Given the description of an element on the screen output the (x, y) to click on. 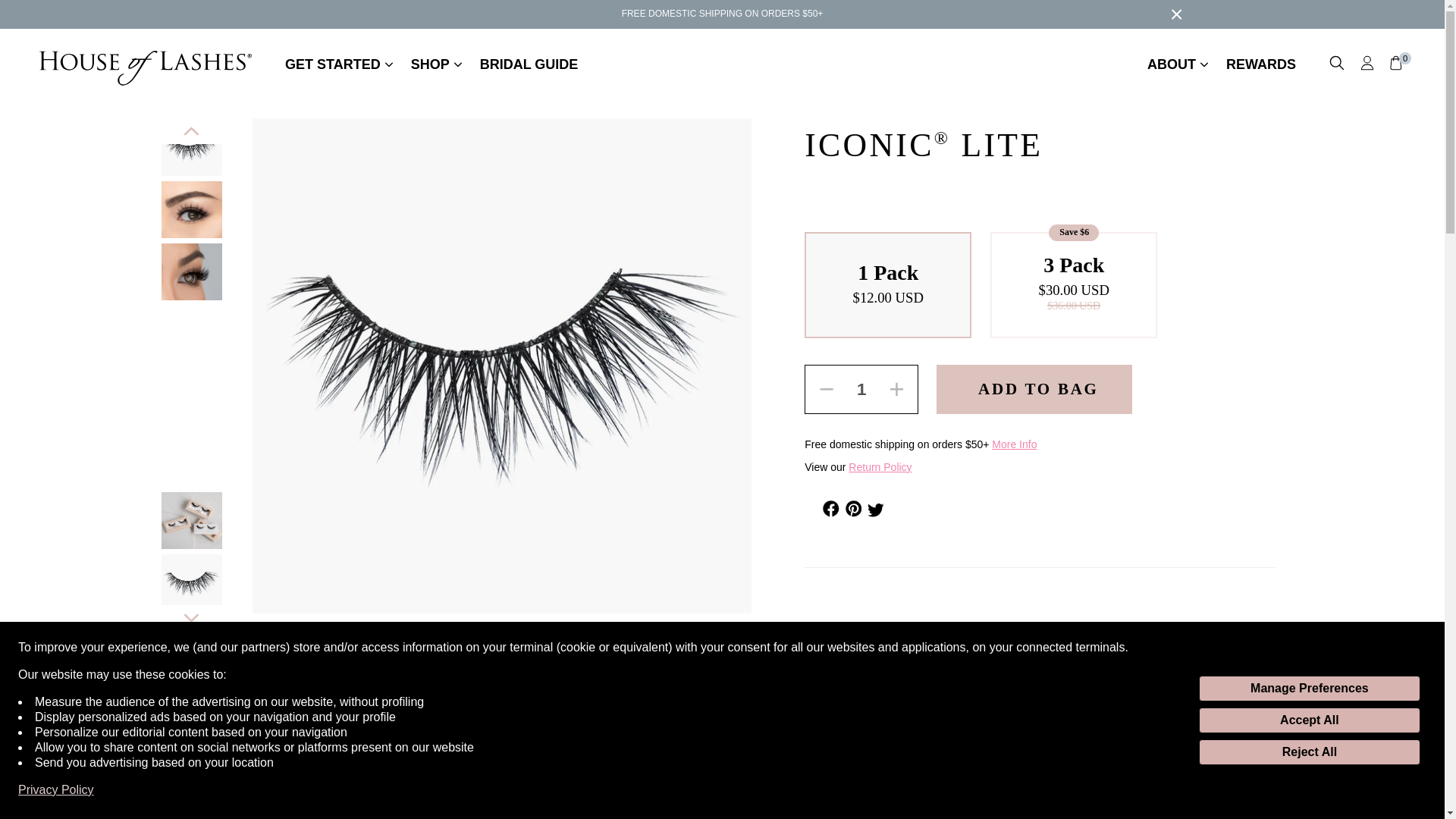
Reject All (1309, 751)
Manage Preferences (1309, 688)
Privacy Policy (55, 789)
Accept All (1309, 720)
